Given the description of an element on the screen output the (x, y) to click on. 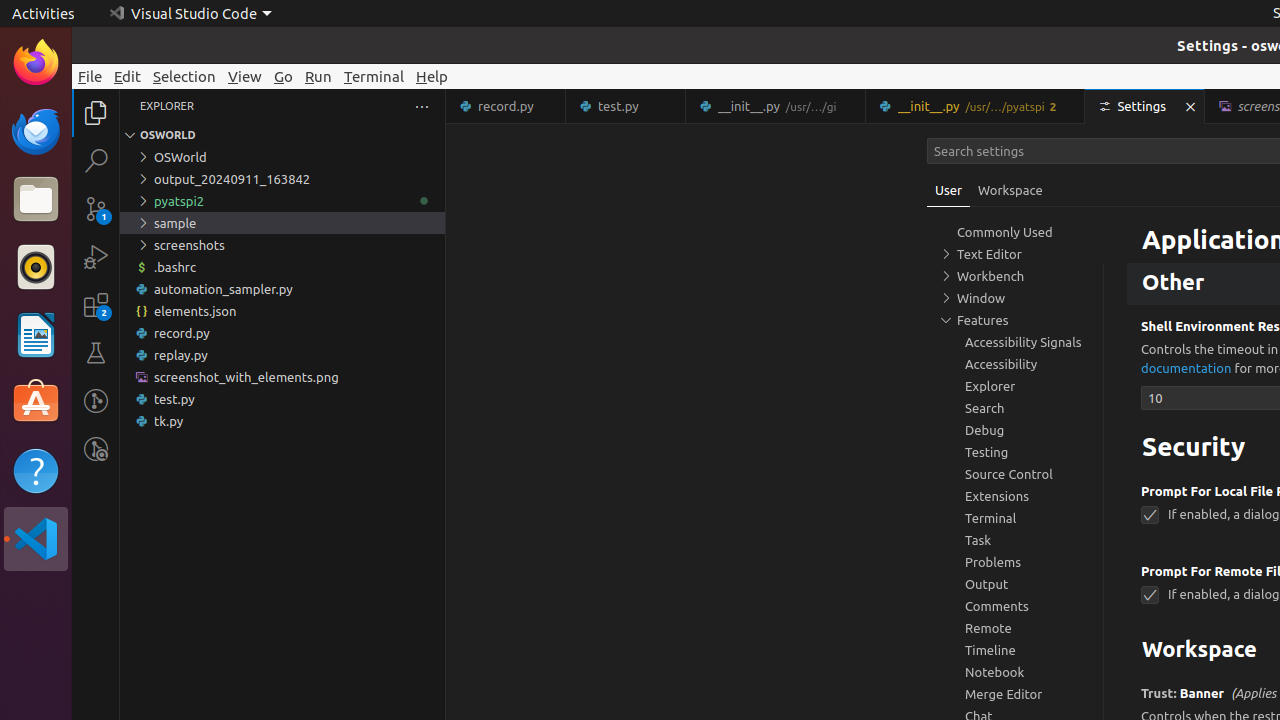
Testing Element type: page-tab (96, 353)
Notebook, group Element type: tree-item (1015, 672)
Workspace Element type: check-box (1010, 190)
Source Control (Ctrl+Shift+G G) - 1 pending changes Source Control (Ctrl+Shift+G G) - 1 pending changes Element type: page-tab (96, 208)
